Given the description of an element on the screen output the (x, y) to click on. 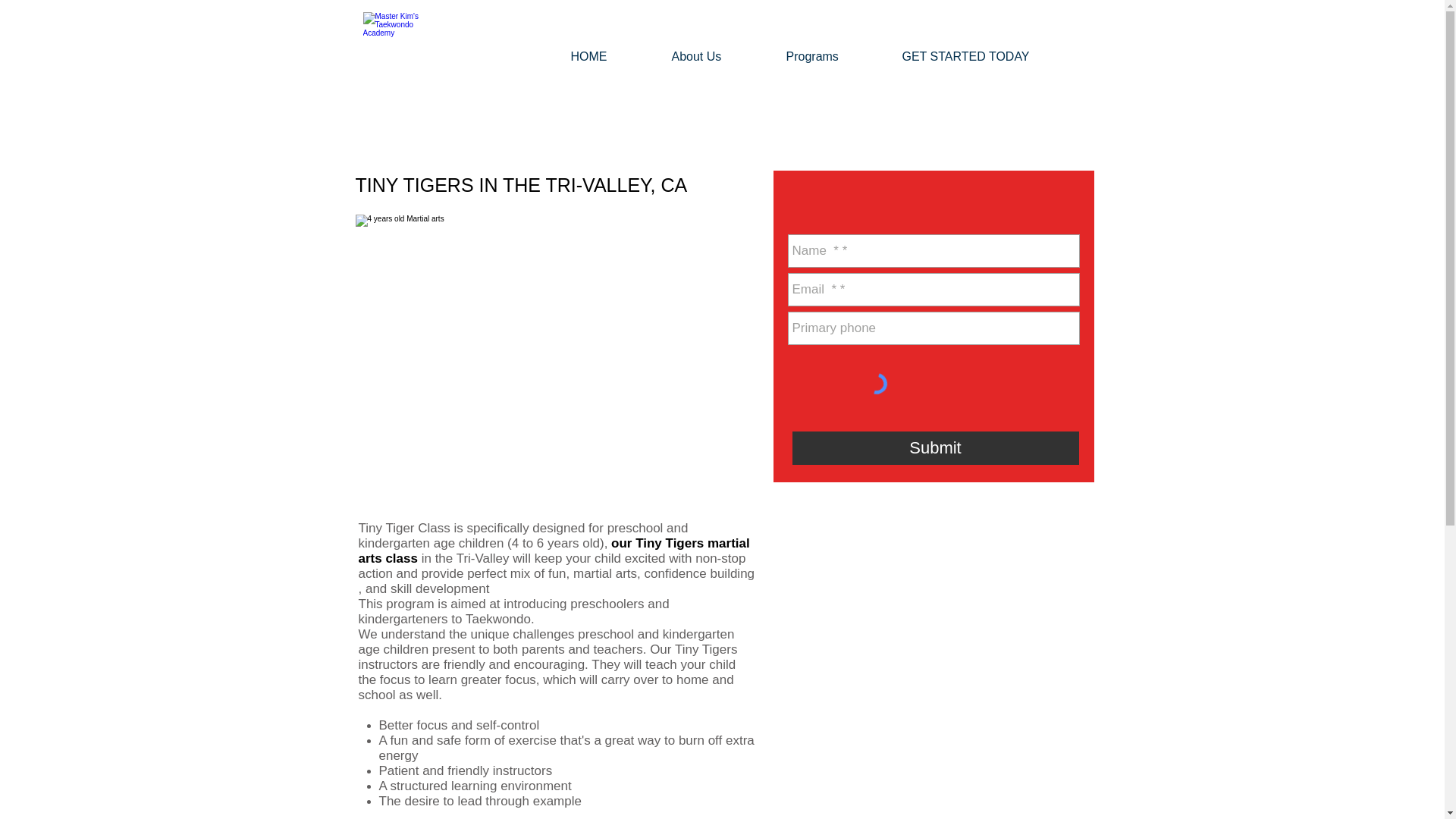
GET STARTED TODAY (990, 56)
martial arts dublin pleasanton san ramon.jpg (550, 344)
About Us (720, 56)
HOME (612, 56)
Submit (935, 448)
